Given the description of an element on the screen output the (x, y) to click on. 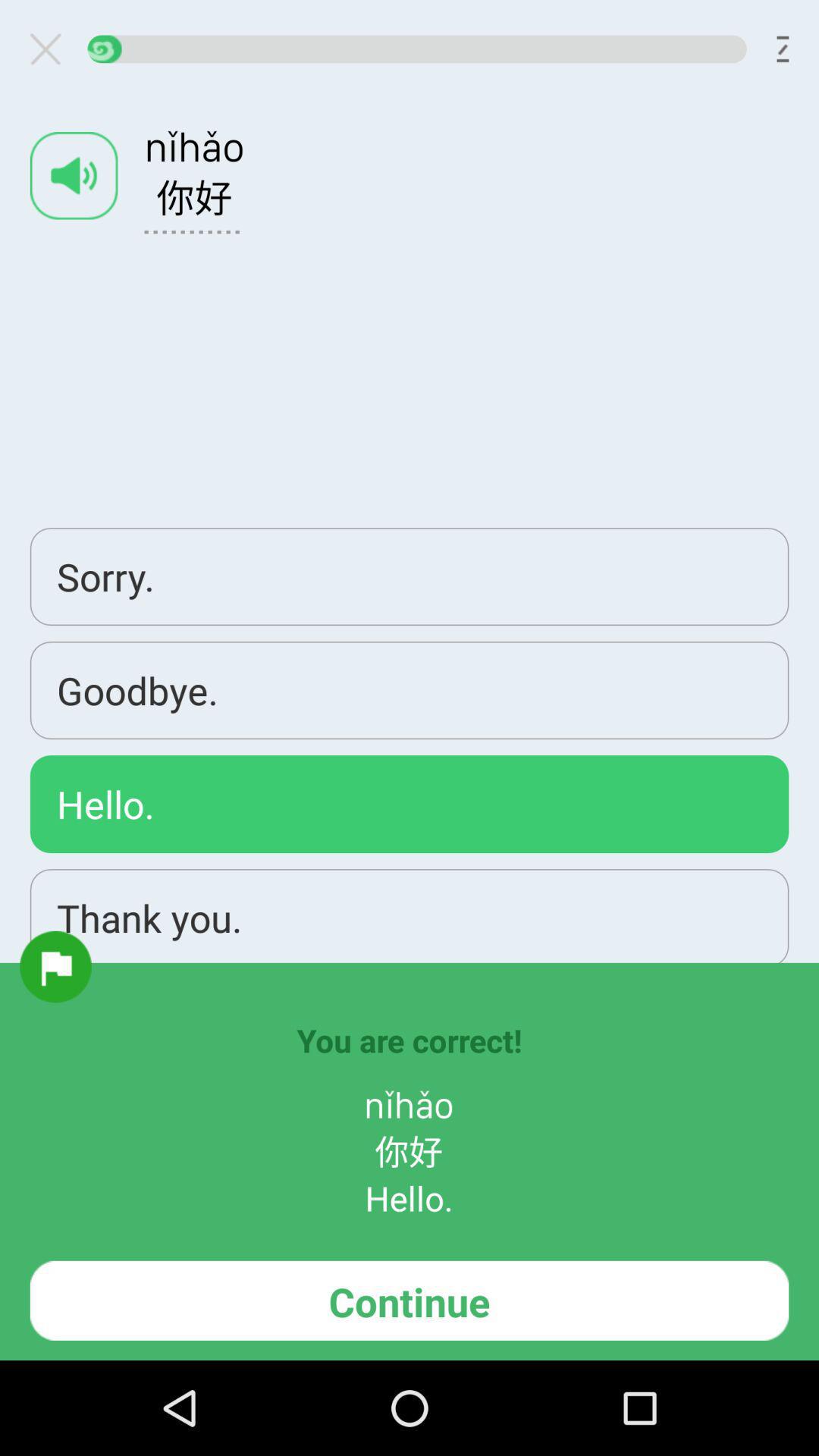
go to back (51, 49)
